Given the description of an element on the screen output the (x, y) to click on. 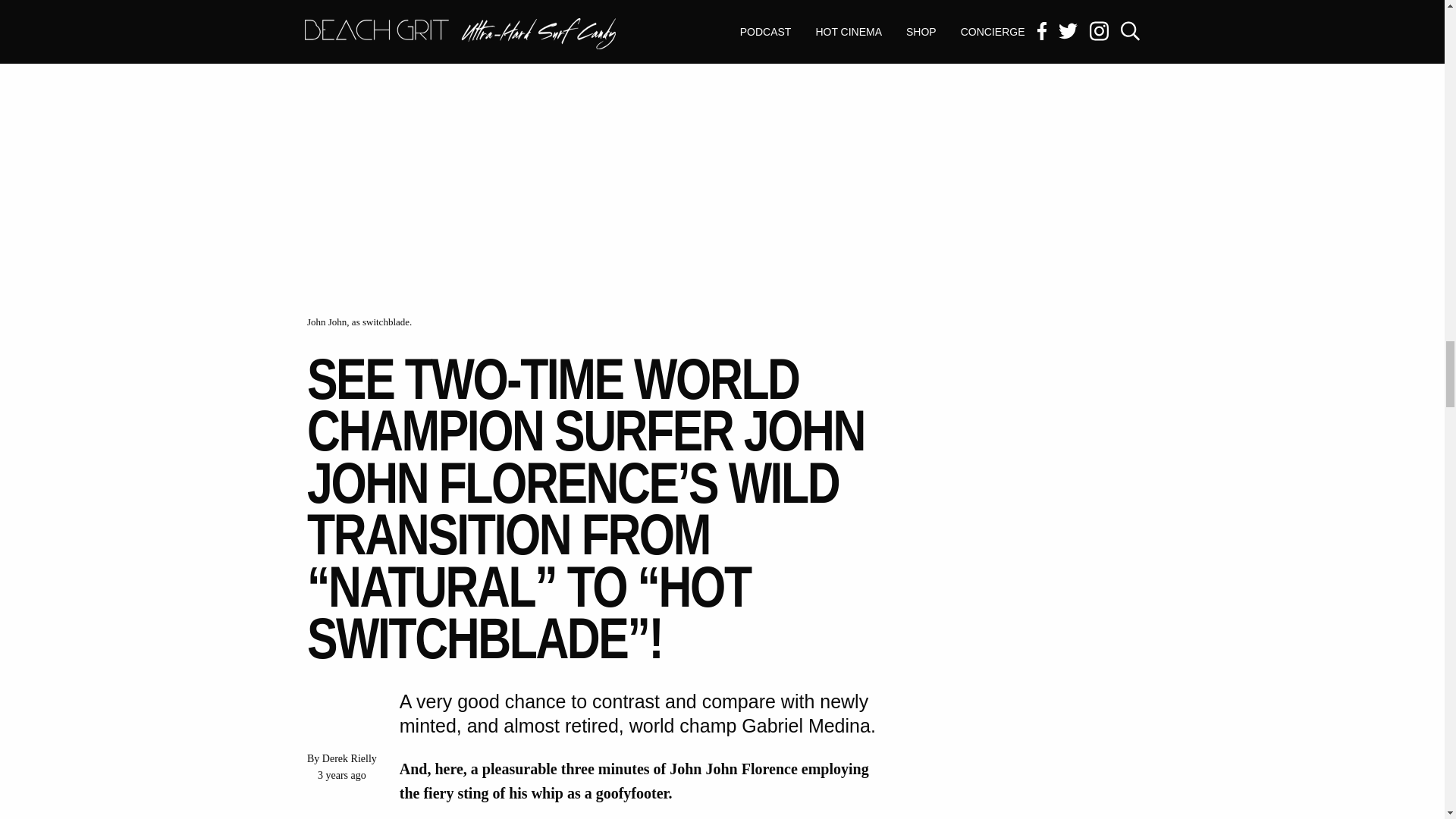
Derek Rielly (349, 758)
